Given the description of an element on the screen output the (x, y) to click on. 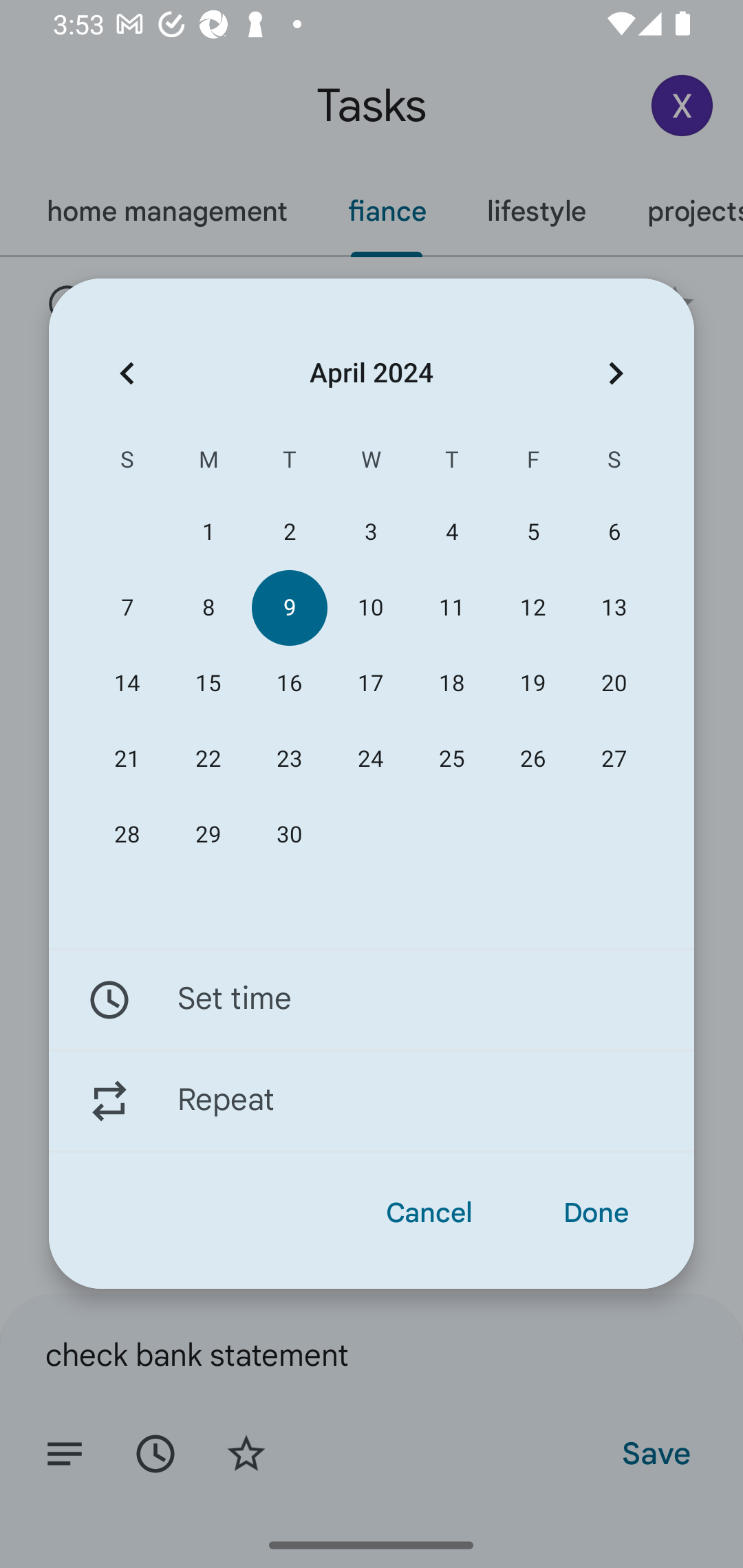
Previous month (126, 372)
Next month (615, 372)
1 01 April 2024 (207, 531)
2 02 April 2024 (288, 531)
3 03 April 2024 (370, 531)
4 04 April 2024 (451, 531)
5 05 April 2024 (532, 531)
6 06 April 2024 (613, 531)
7 07 April 2024 (126, 608)
8 08 April 2024 (207, 608)
9 09 April 2024 (288, 608)
10 10 April 2024 (370, 608)
11 11 April 2024 (451, 608)
12 12 April 2024 (532, 608)
13 13 April 2024 (613, 608)
14 14 April 2024 (126, 683)
15 15 April 2024 (207, 683)
16 16 April 2024 (288, 683)
17 17 April 2024 (370, 683)
18 18 April 2024 (451, 683)
19 19 April 2024 (532, 683)
20 20 April 2024 (613, 683)
21 21 April 2024 (126, 758)
22 22 April 2024 (207, 758)
23 23 April 2024 (288, 758)
24 24 April 2024 (370, 758)
25 25 April 2024 (451, 758)
26 26 April 2024 (532, 758)
27 27 April 2024 (613, 758)
28 28 April 2024 (126, 834)
29 29 April 2024 (207, 834)
30 30 April 2024 (288, 834)
Set time (371, 999)
Repeat (371, 1101)
Cancel (429, 1213)
Done (595, 1213)
